Given the description of an element on the screen output the (x, y) to click on. 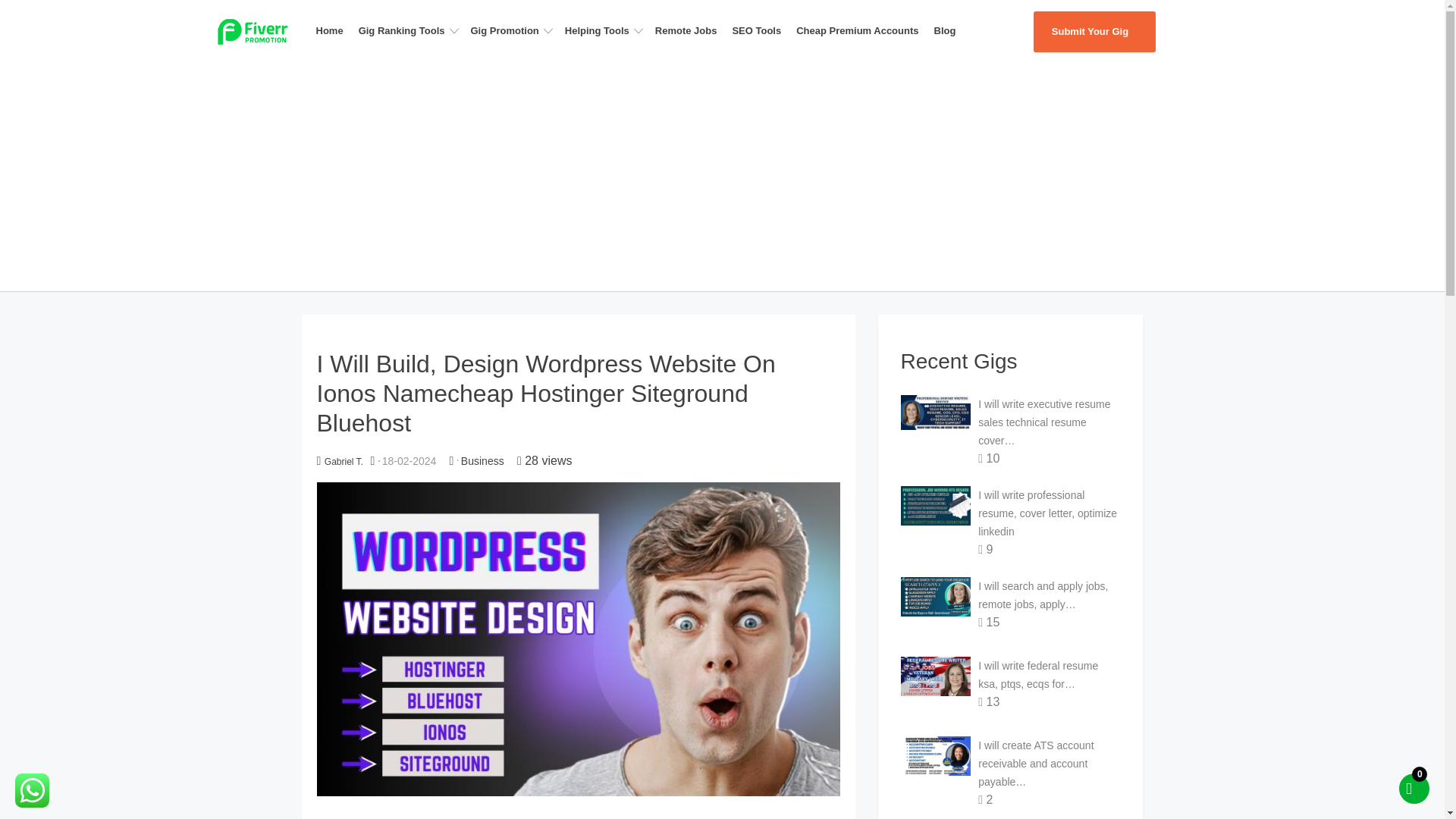
Home (334, 30)
Gabriel T. (343, 461)
Remote Jobs (690, 30)
Blog (949, 30)
Gig Ranking Tools (411, 30)
Submit Your Gig (1094, 31)
Cheap Premium Accounts (861, 30)
Business (482, 460)
SEO Tools (761, 30)
18-02-2024 (408, 460)
Helping Tools (607, 30)
Gig Promotion (513, 30)
